Given the description of an element on the screen output the (x, y) to click on. 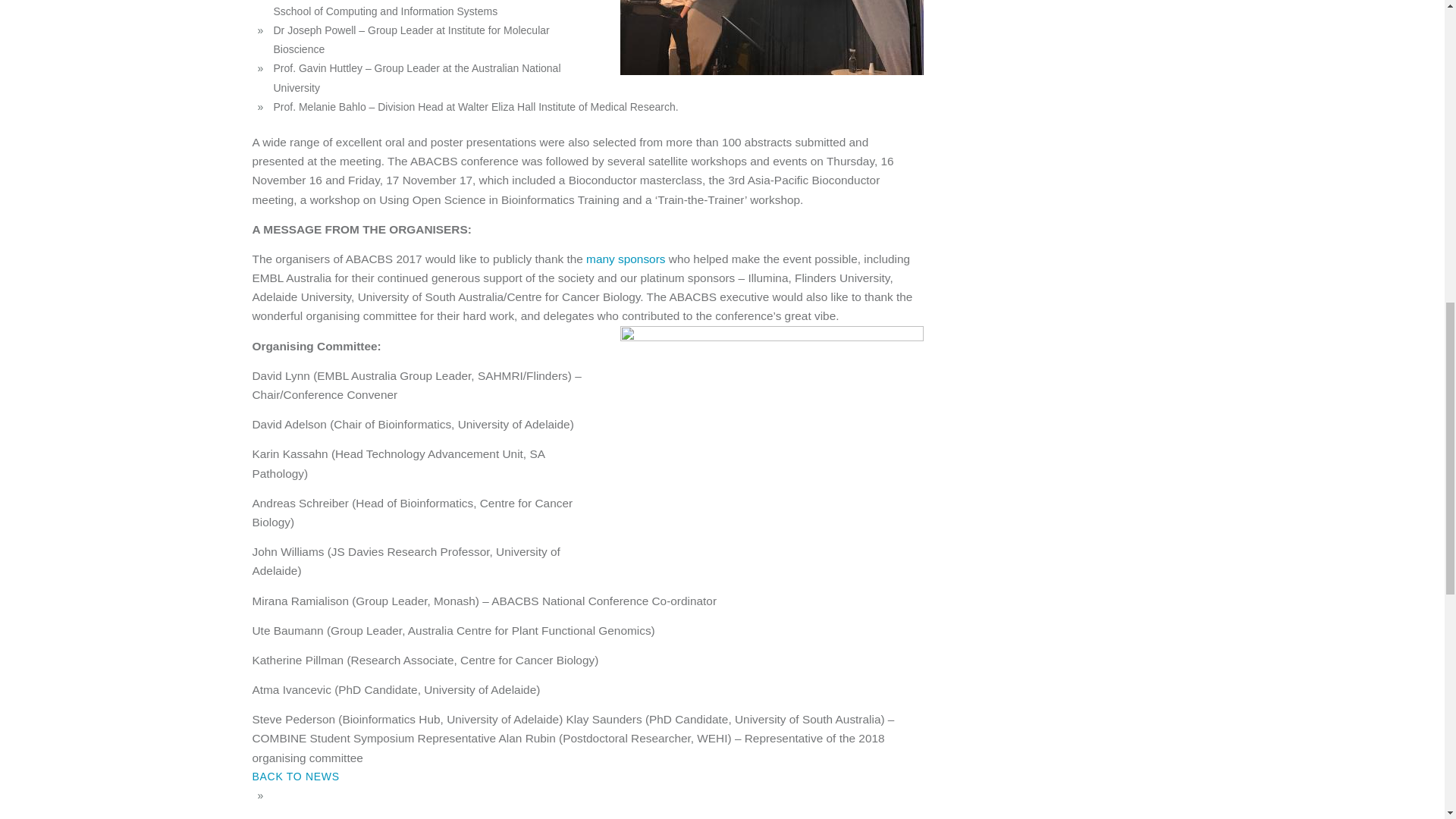
many sponsors (625, 258)
BACK TO NEWS (295, 776)
